Given the description of an element on the screen output the (x, y) to click on. 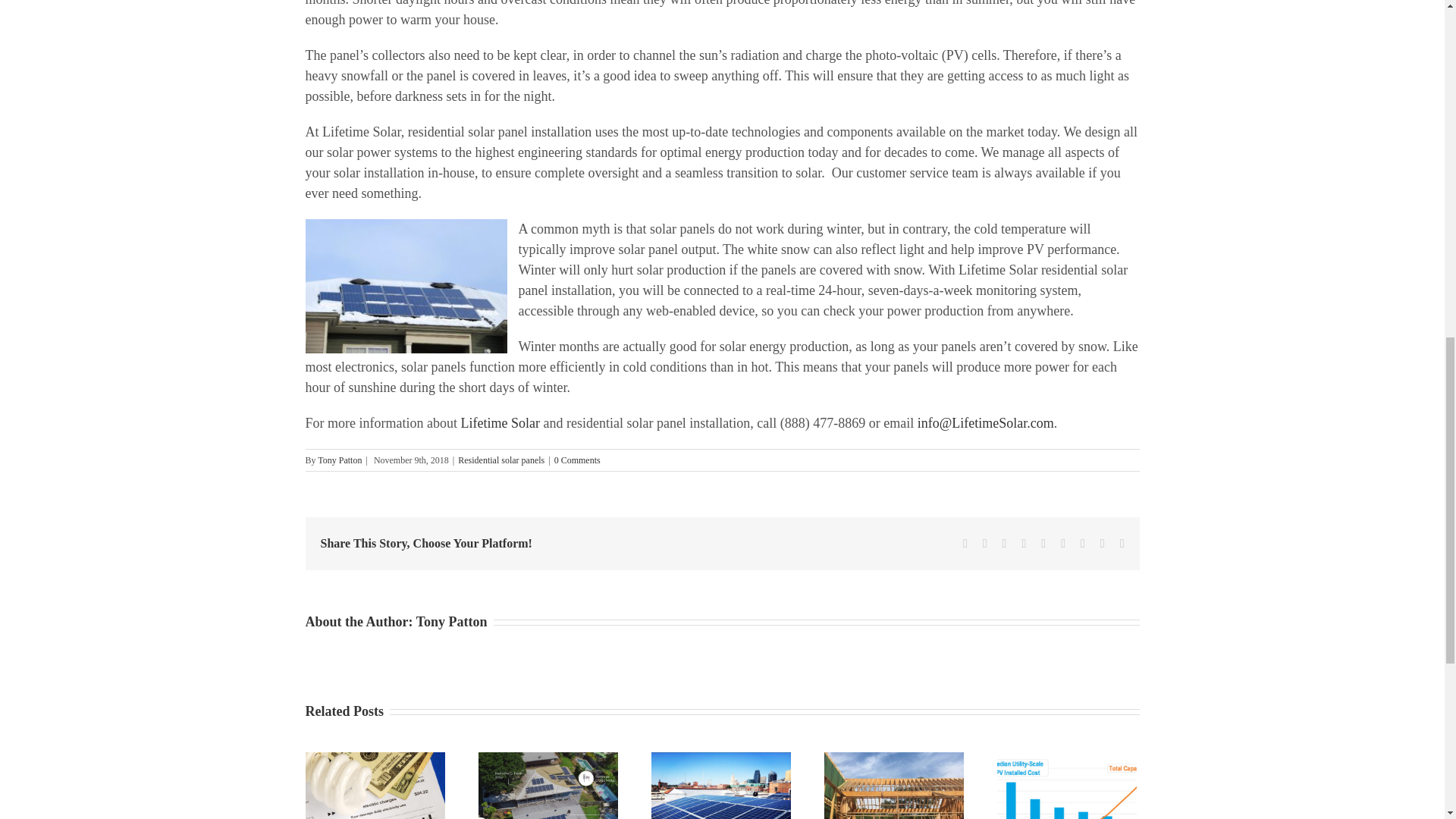
Posts by Tony Patton (451, 621)
Posts by Tony Patton (339, 460)
Lifetime Solar (499, 422)
